Given the description of an element on the screen output the (x, y) to click on. 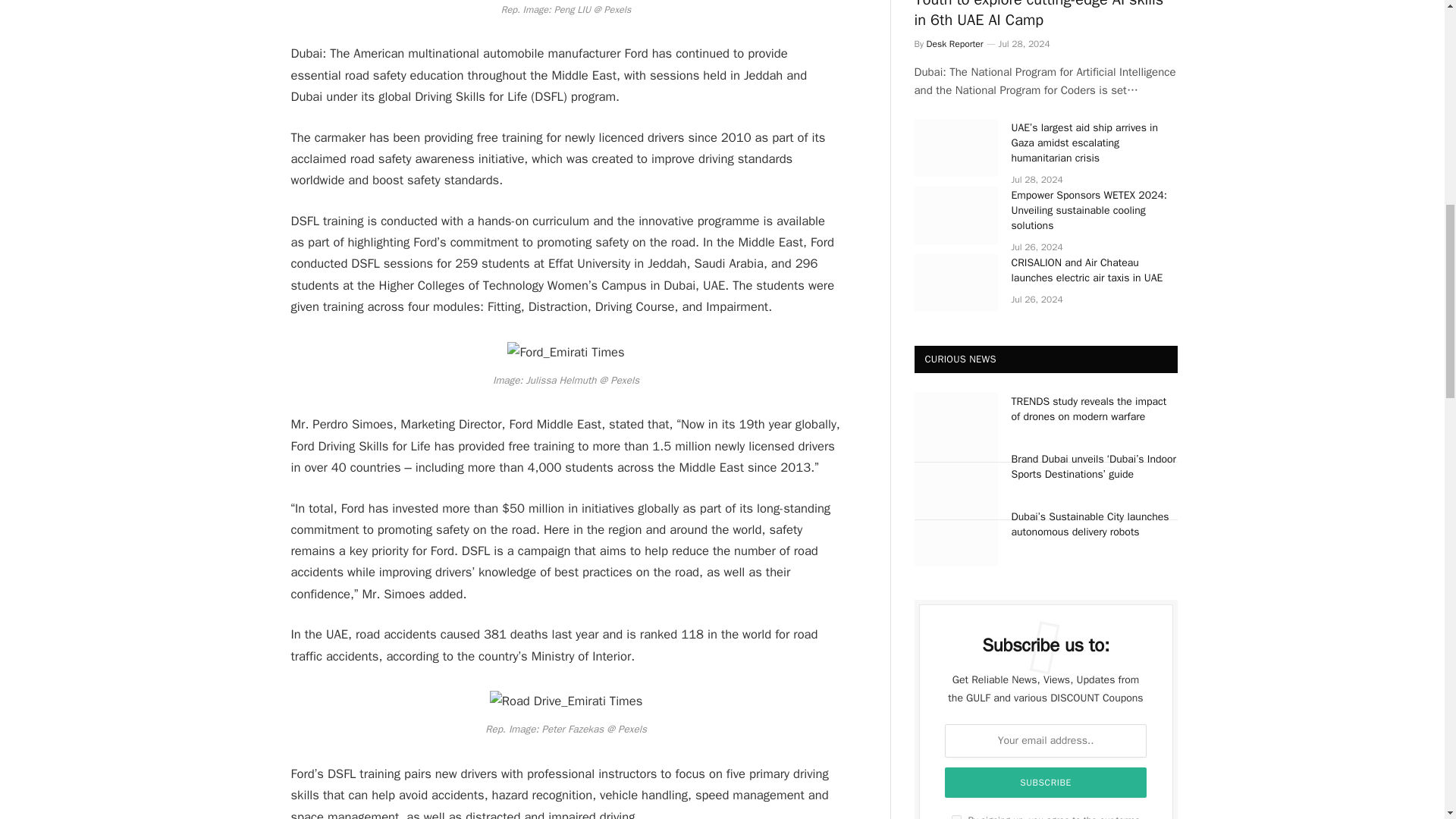
on (956, 816)
Subscribe (1045, 782)
